Given the description of an element on the screen output the (x, y) to click on. 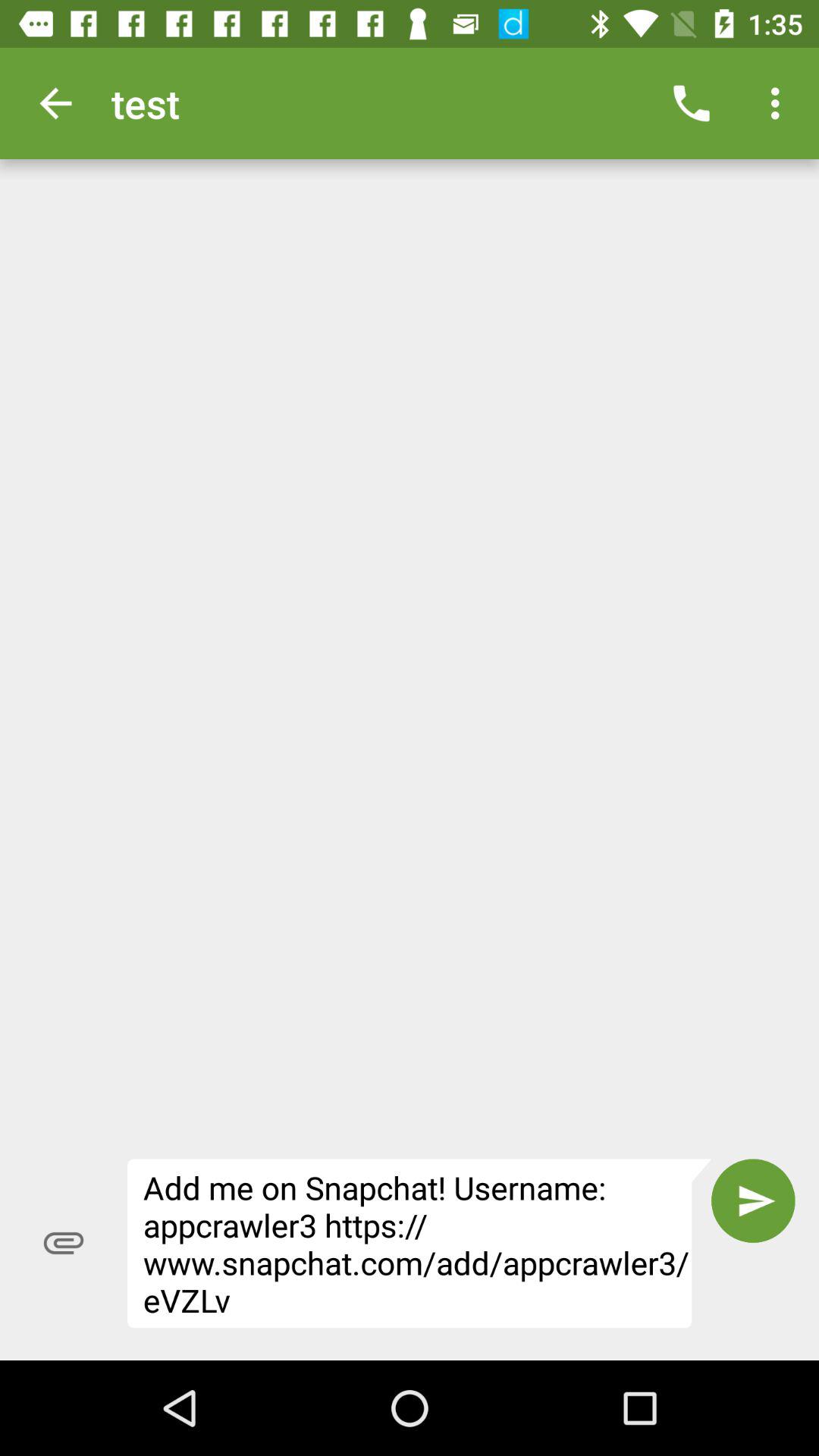
choose the icon to the right of add me on icon (753, 1200)
